Given the description of an element on the screen output the (x, y) to click on. 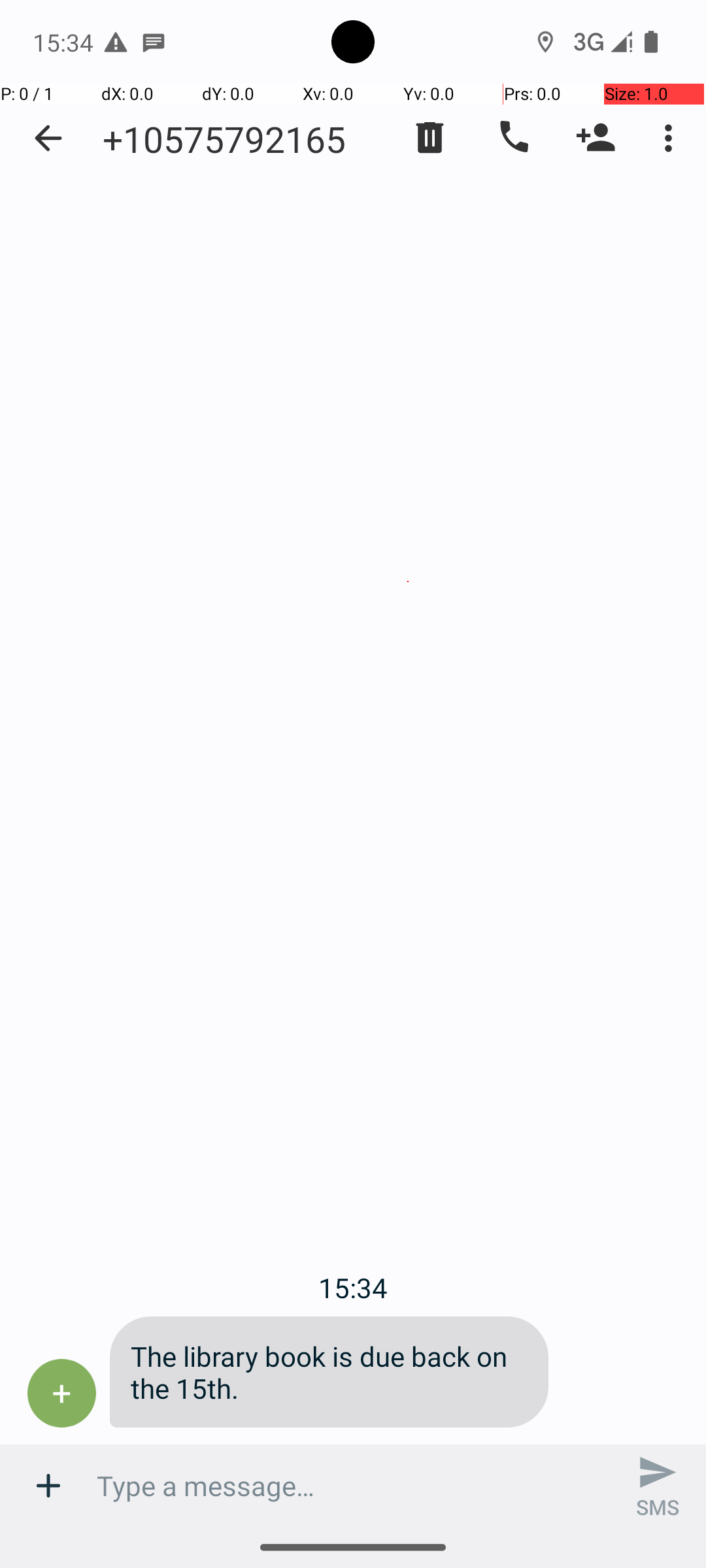
+10575792165 Element type: android.widget.TextView (223, 138)
The library book is due back on the 15th. Element type: android.widget.TextView (328, 1371)
